Given the description of an element on the screen output the (x, y) to click on. 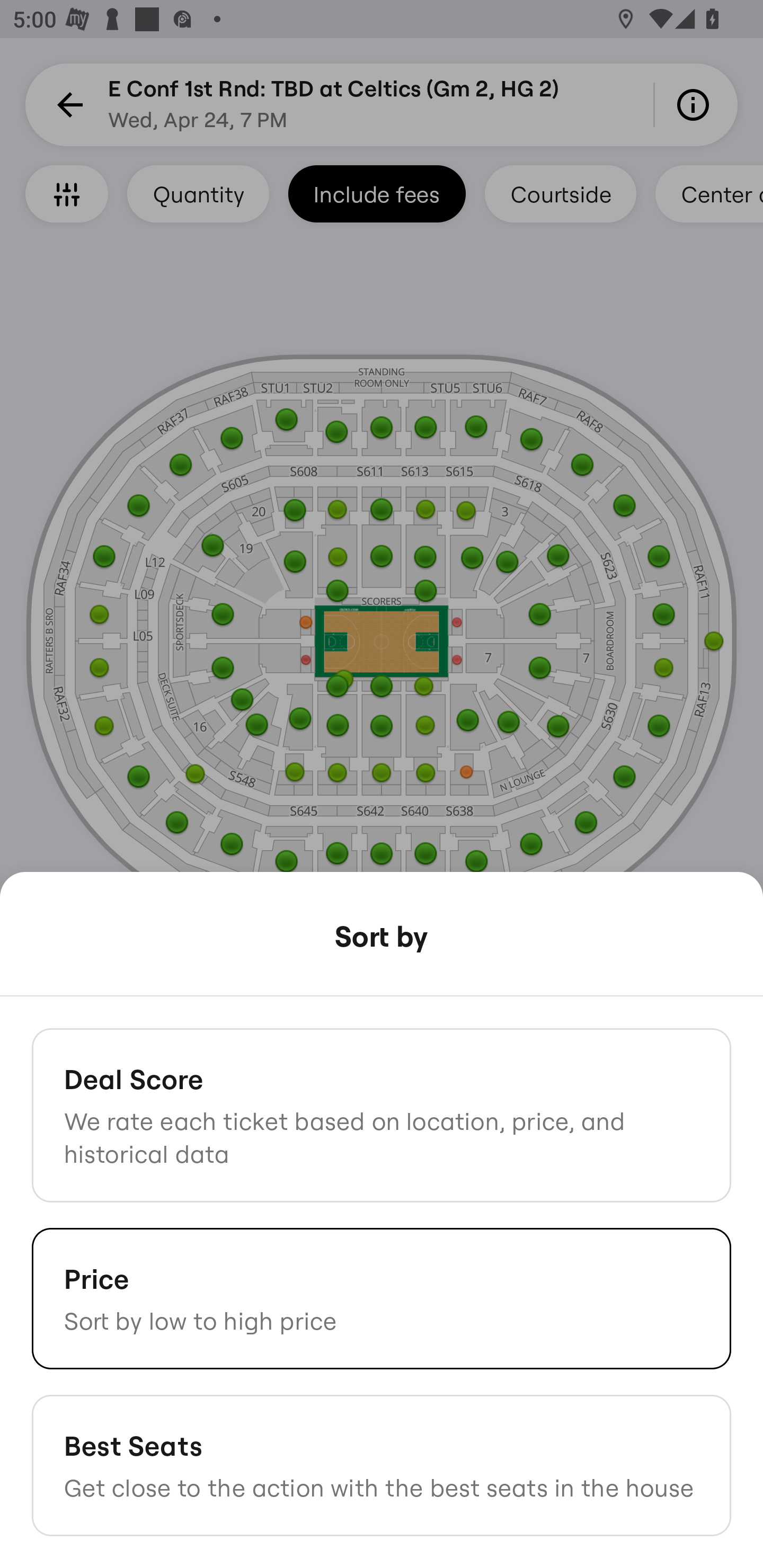
Price Sort by low to high price (381, 1297)
